Given the description of an element on the screen output the (x, y) to click on. 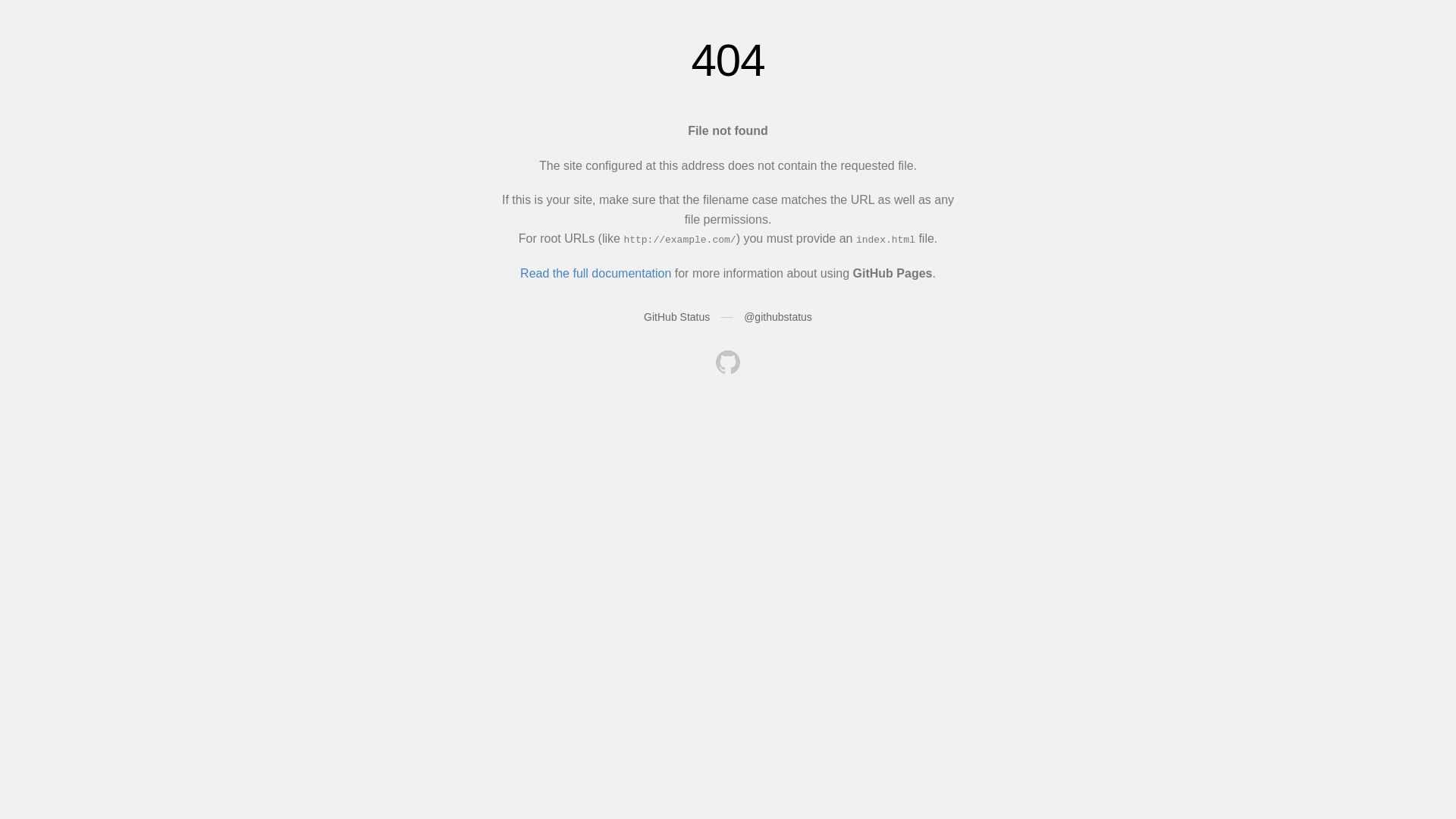
@githubstatus Element type: text (777, 316)
GitHub Status Element type: text (676, 316)
Read the full documentation Element type: text (595, 272)
